Given the description of an element on the screen output the (x, y) to click on. 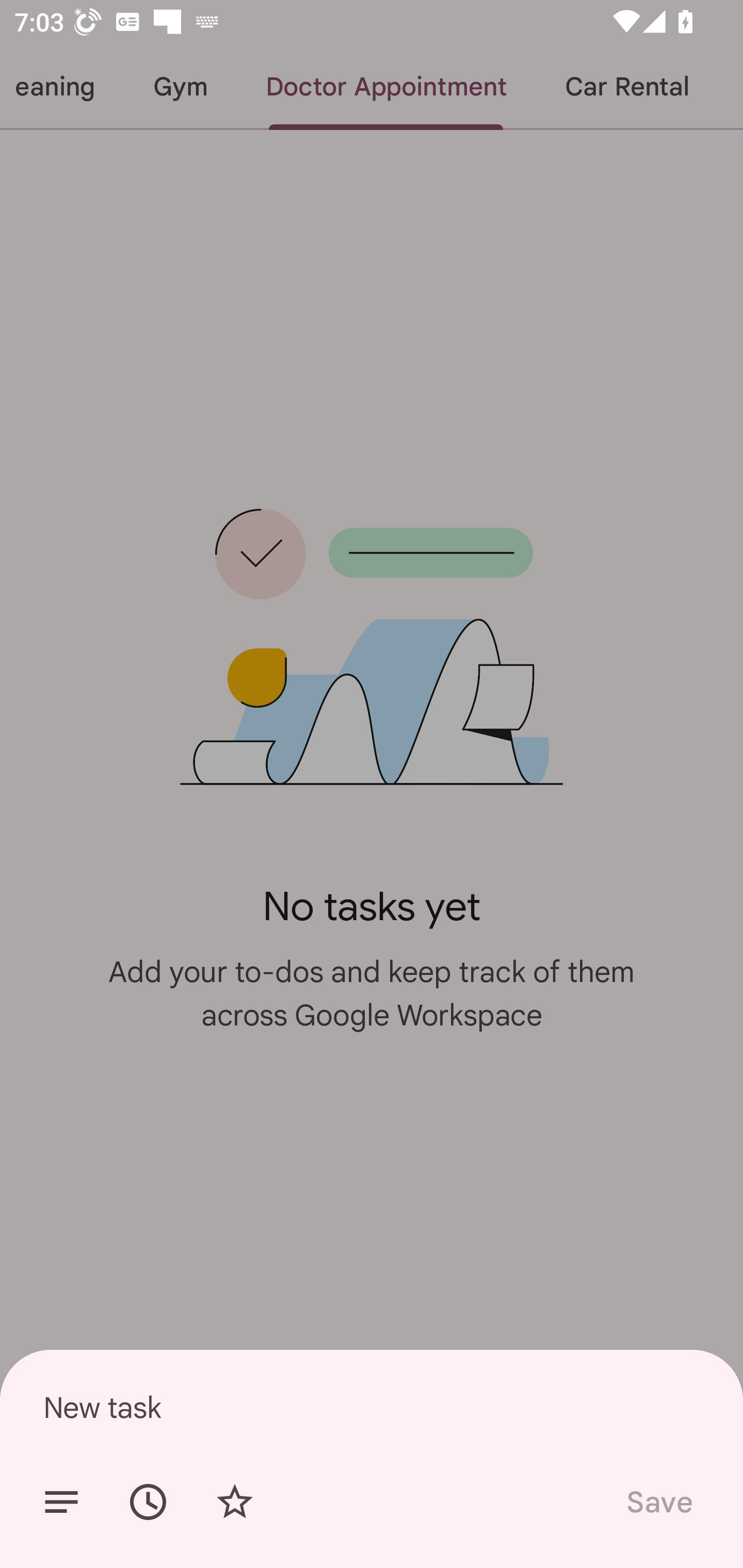
New task (371, 1407)
Save (659, 1501)
Add details (60, 1501)
Set date/time (147, 1501)
Add star (234, 1501)
